Given the description of an element on the screen output the (x, y) to click on. 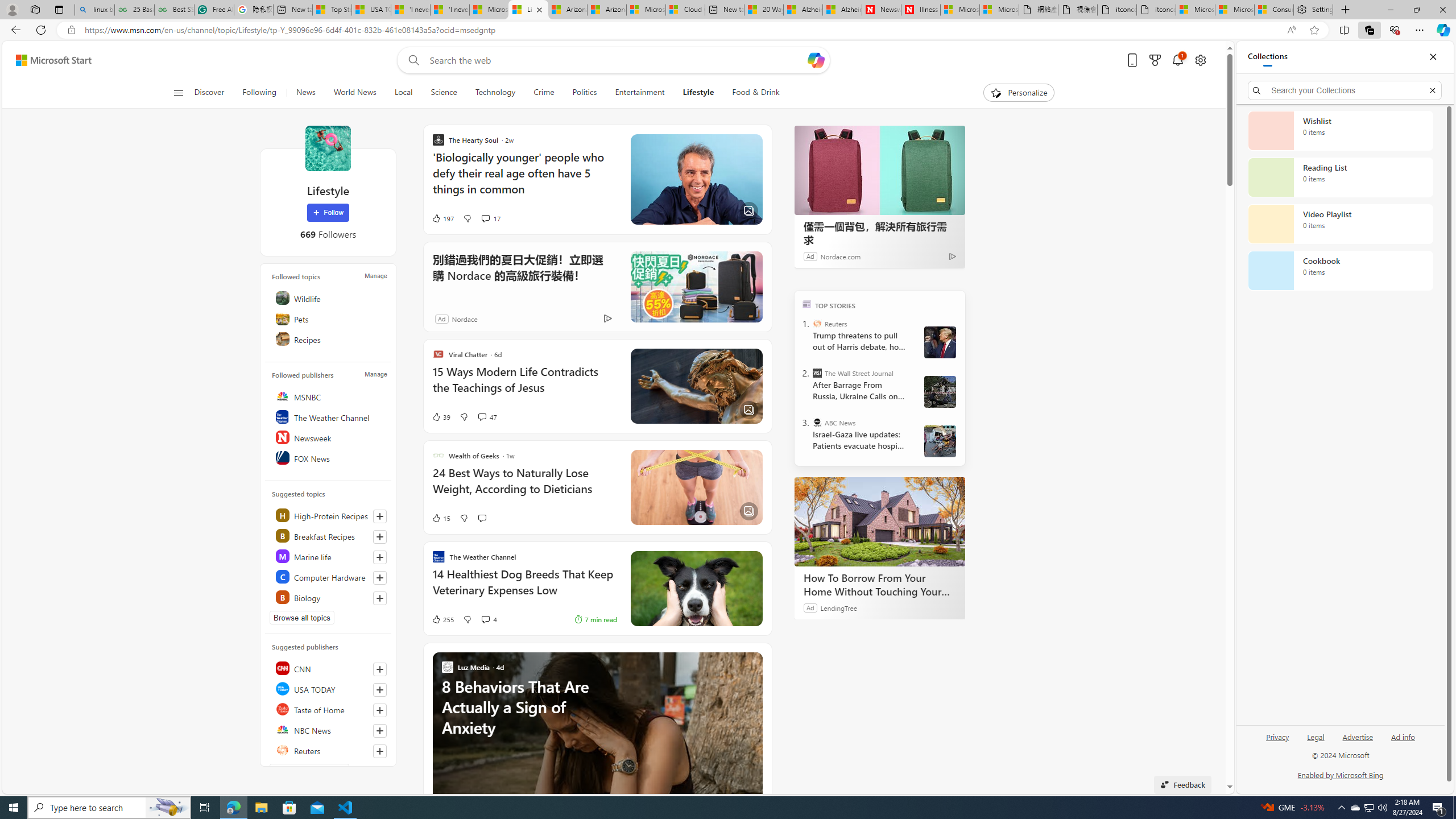
View comments 47 Comment (487, 416)
Reuters (816, 323)
Microsoft Services Agreement (646, 9)
Start the conversation (481, 517)
Lifestyle (697, 92)
Refresh (40, 29)
Taste of Home (328, 709)
Browse all publishers (309, 770)
Follow this source (379, 751)
FOX News (328, 457)
15 Like (440, 517)
News (305, 92)
Wishlist collection, 0 items (1339, 130)
Cloud Computing Services | Microsoft Azure (685, 9)
